Given the description of an element on the screen output the (x, y) to click on. 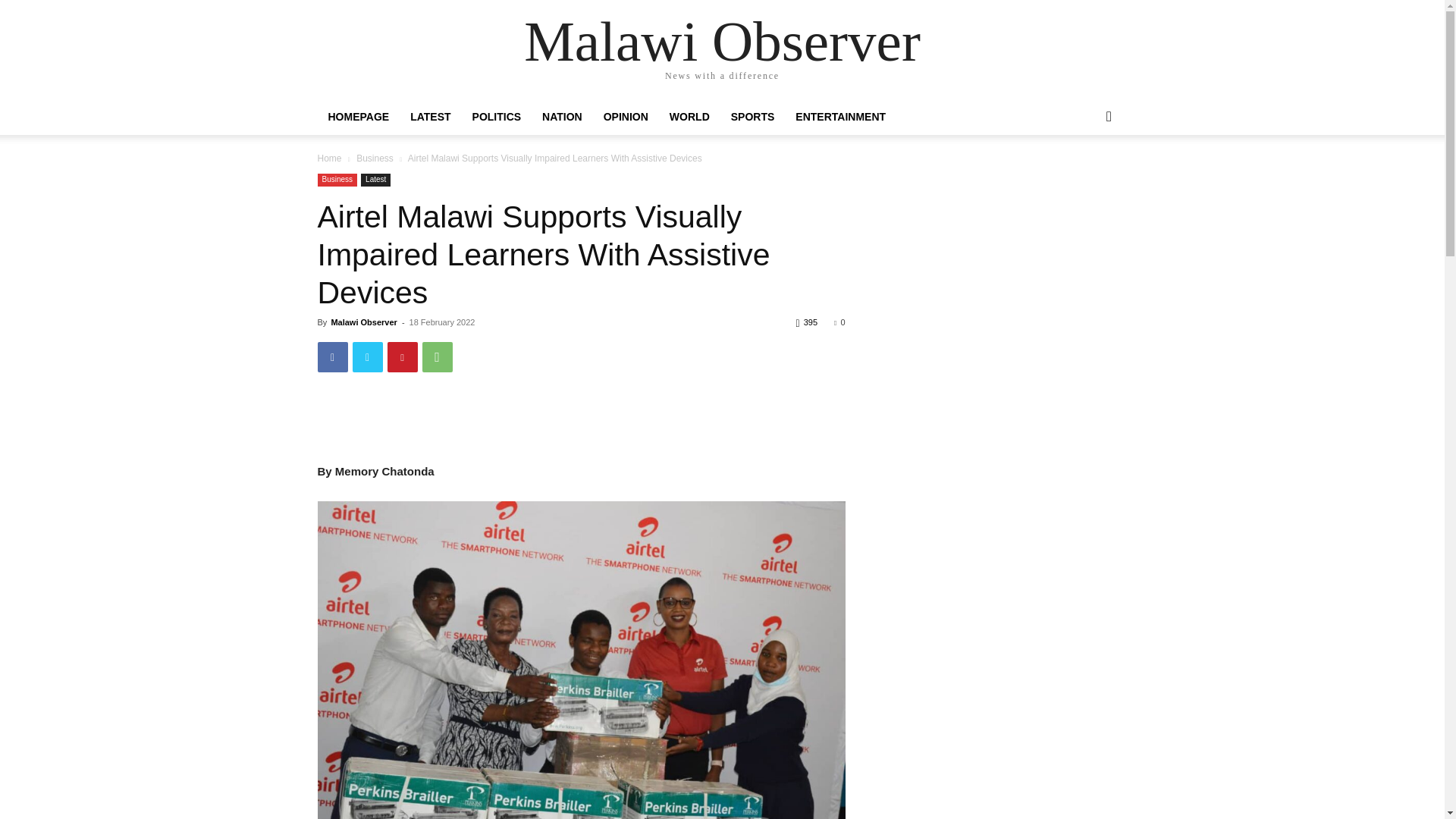
WhatsApp (436, 357)
POLITICS (496, 116)
SPORTS (753, 116)
LATEST (429, 116)
Advertisement (580, 422)
Malawi Observer (363, 321)
Facebook (332, 357)
HOMEPAGE (357, 116)
NATION (561, 116)
WORLD (689, 116)
Business (374, 158)
Pinterest (401, 357)
Search (1085, 177)
0 (839, 321)
Malawi Observer (722, 41)
